Given the description of an element on the screen output the (x, y) to click on. 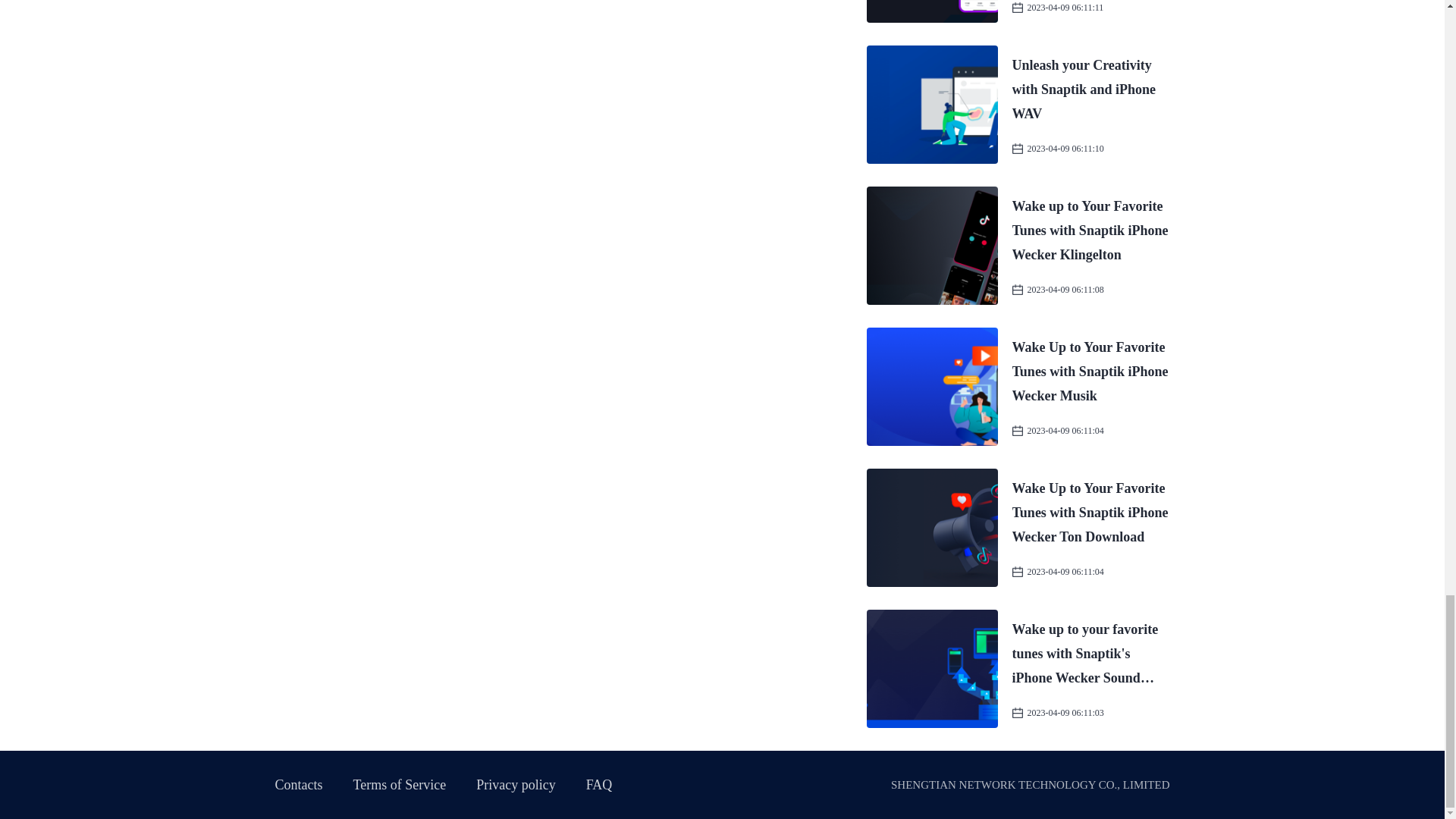
FAQ (599, 784)
Privacy policy (515, 784)
Terms of Service (399, 784)
Contacts (298, 784)
